Given the description of an element on the screen output the (x, y) to click on. 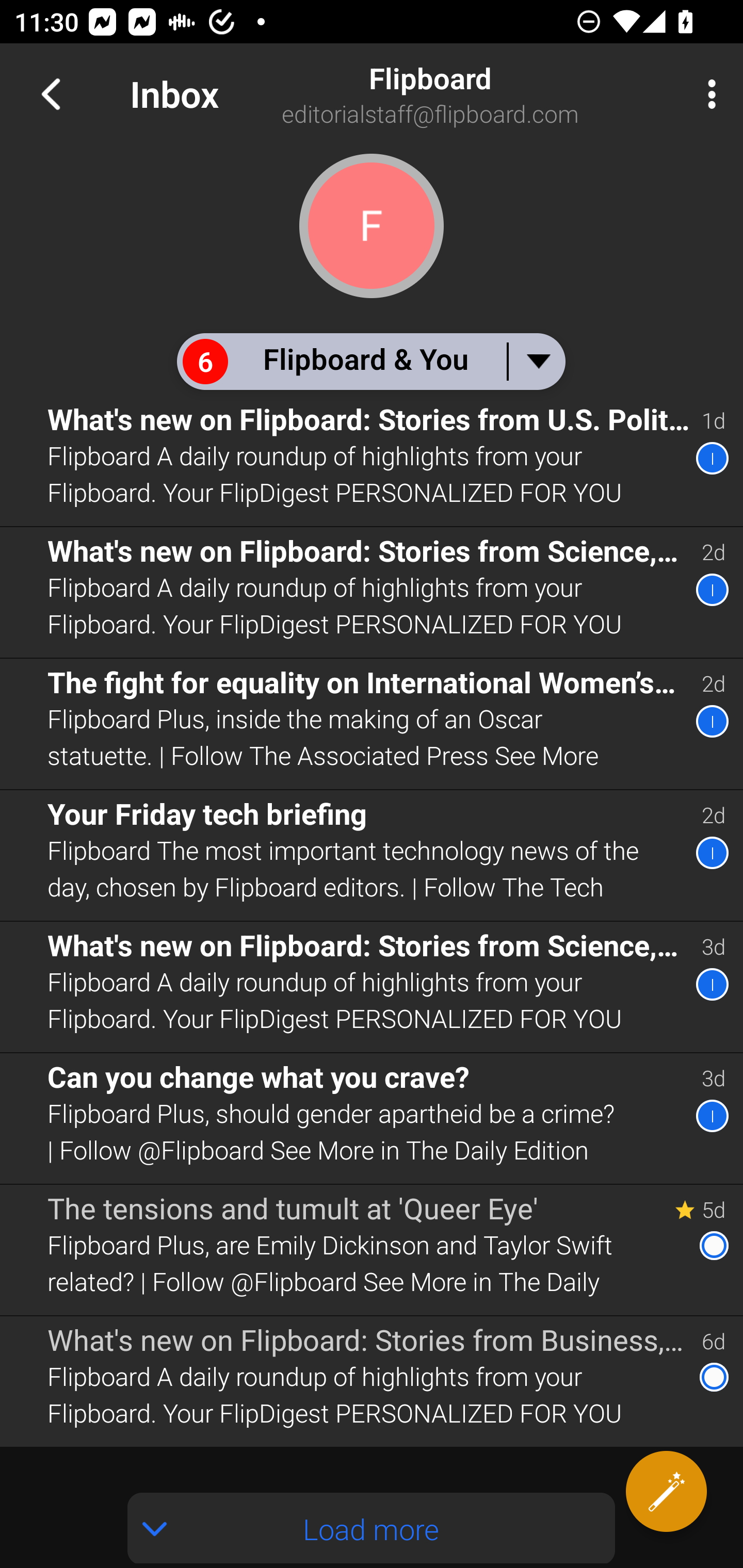
Navigate up (50, 93)
Flipboard editorialstaff@flipboard.com (481, 93)
More Options (706, 93)
6 Flipboard & You (370, 361)
Load more (371, 1527)
